Given the description of an element on the screen output the (x, y) to click on. 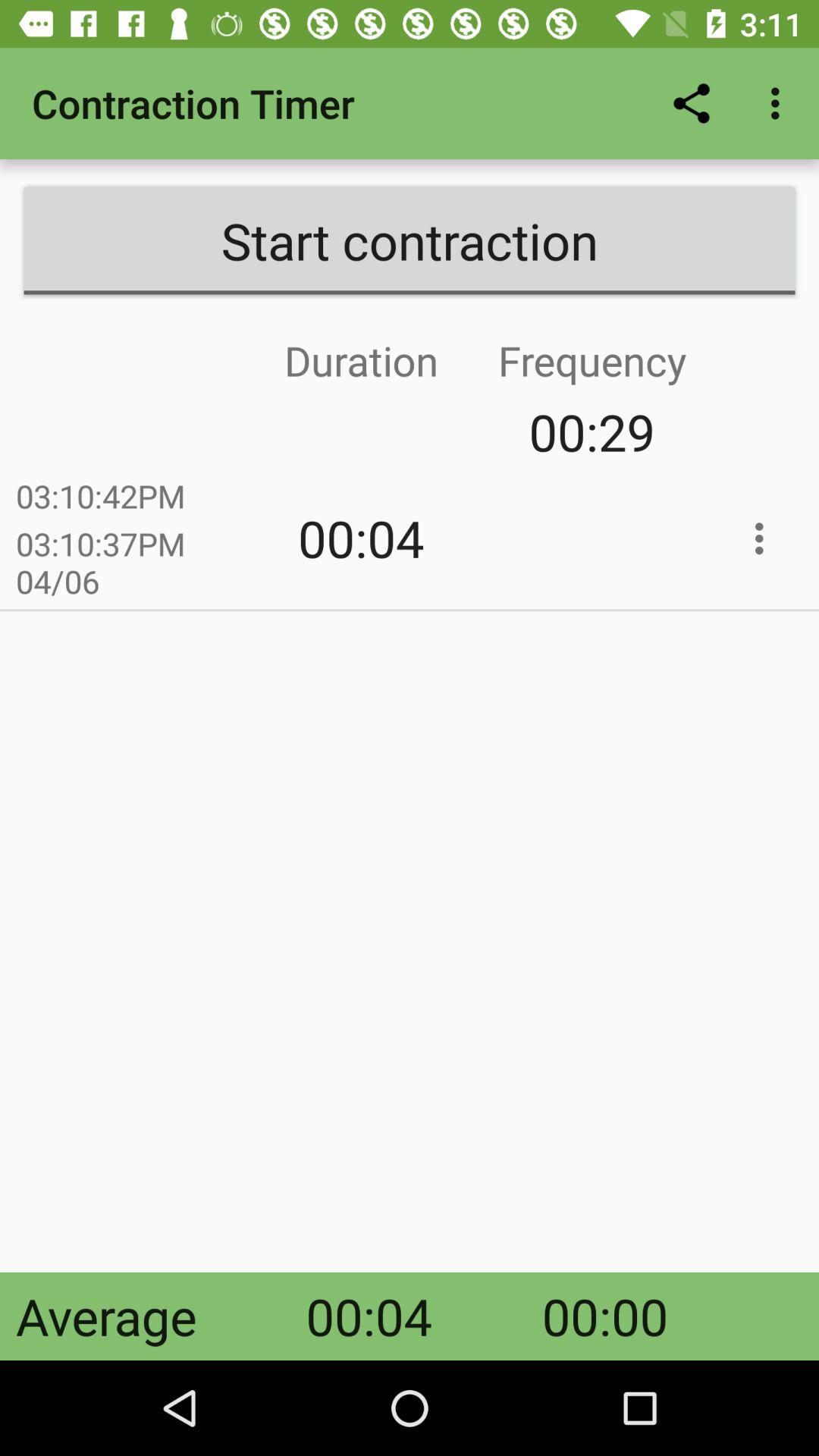
select the share button (691, 103)
select the more options button beside share button (779, 103)
select the text which is in between average and 0000 (369, 1316)
